Given the description of an element on the screen output the (x, y) to click on. 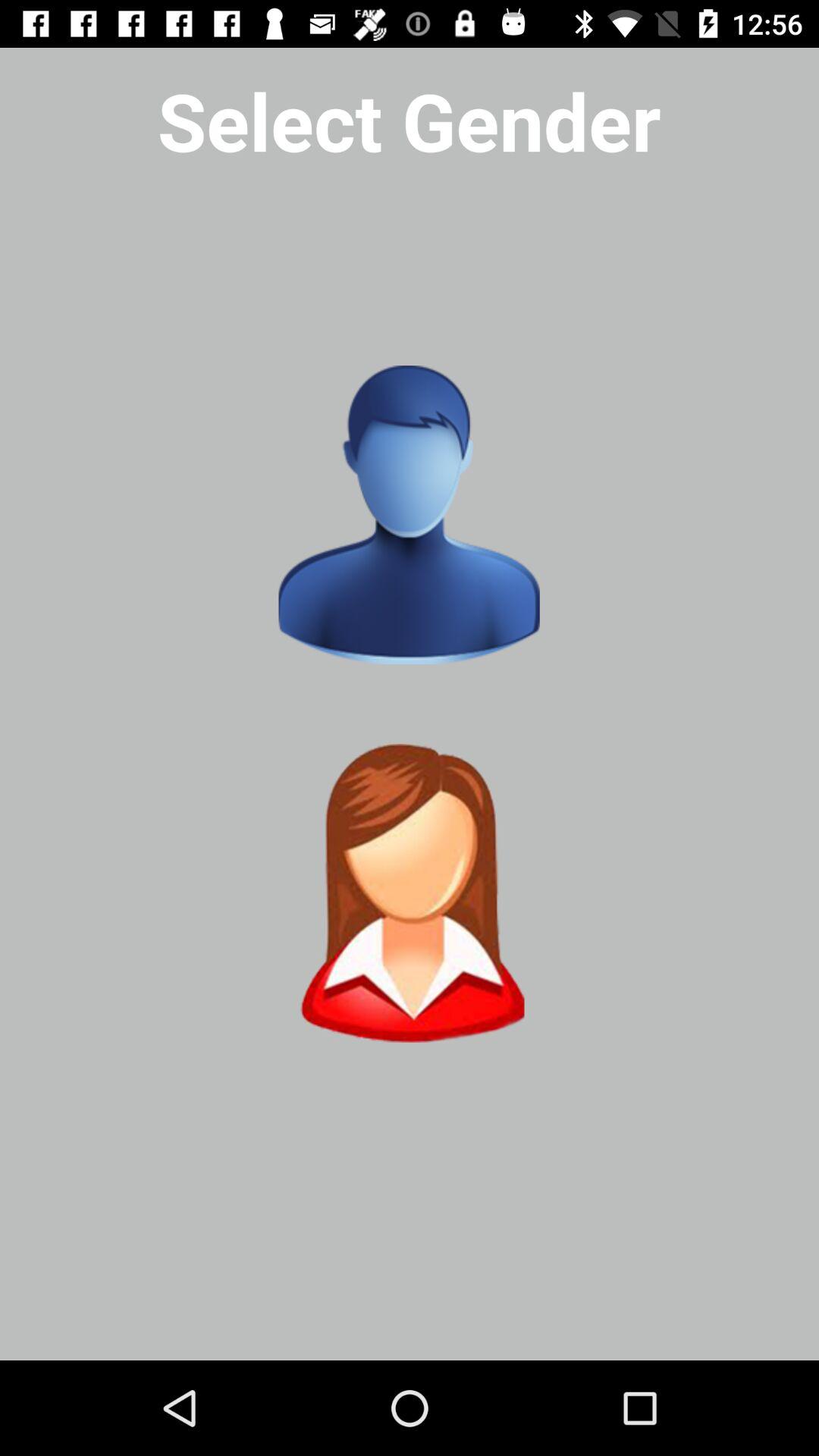
woman gender (408, 892)
